Given the description of an element on the screen output the (x, y) to click on. 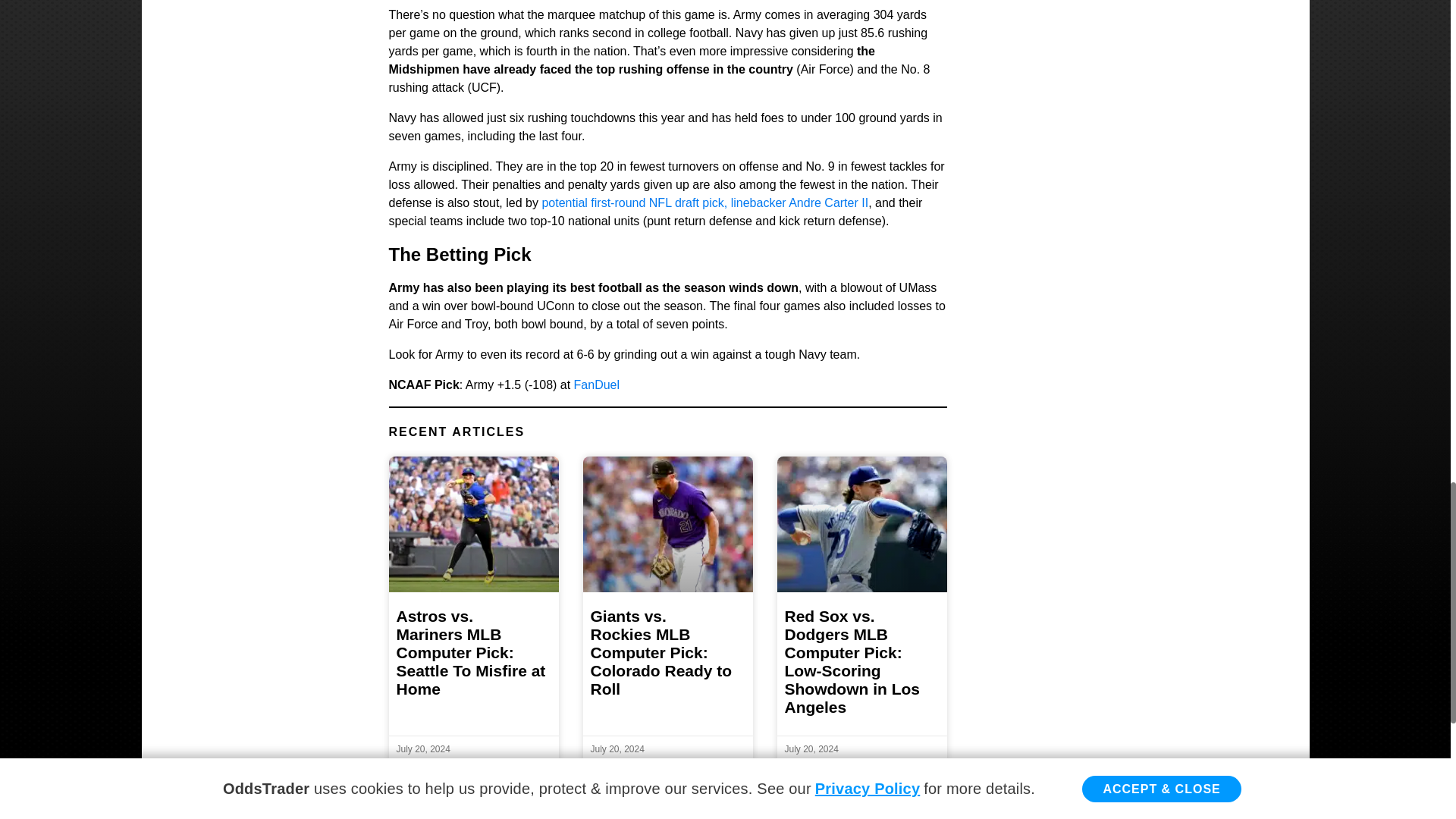
FanDuel (596, 384)
